Given the description of an element on the screen output the (x, y) to click on. 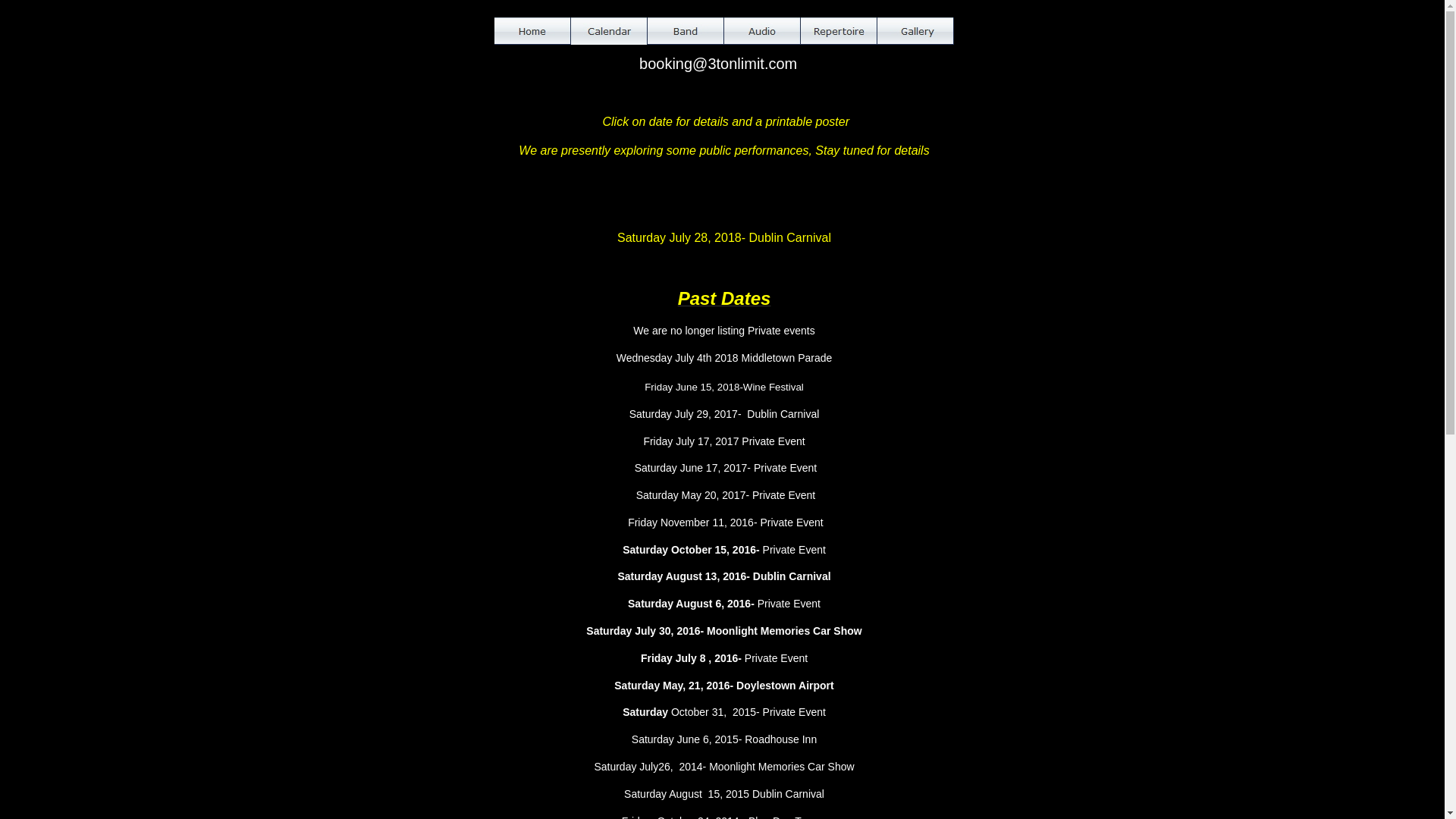
 Gallery Element type: hover (914, 30)
Calendar Element type: hover (608, 30)
Band Element type: hover (685, 30)
Repertoire Element type: hover (838, 30)
Audio Element type: hover (761, 30)
Home Element type: hover (532, 30)
